Given the description of an element on the screen output the (x, y) to click on. 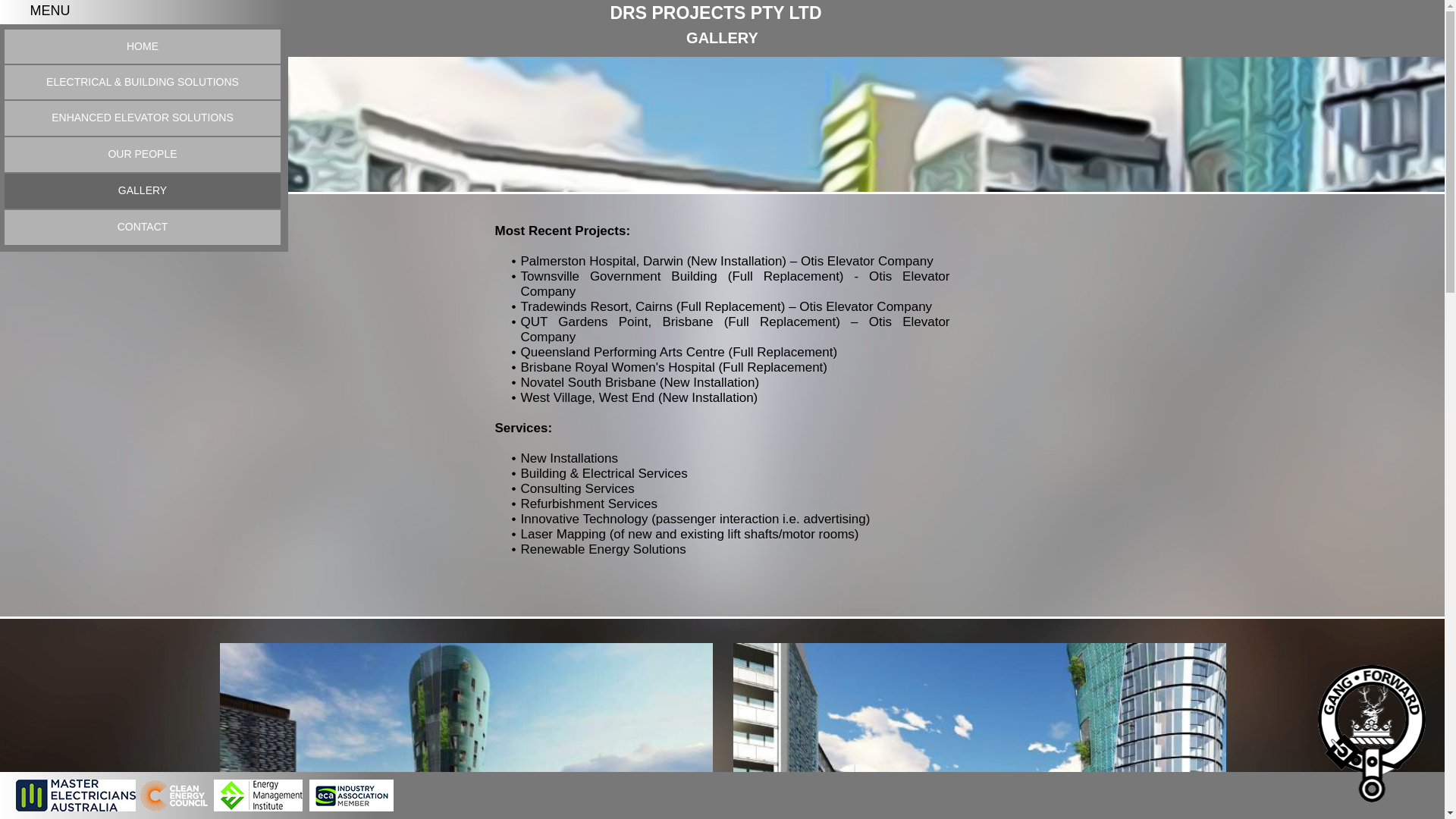
ELECTRICAL & BUILDING SOLUTIONS Element type: text (142, 82)
OUR PEOPLE Element type: text (142, 154)
CONTACT Element type: text (142, 227)
HOME Element type: text (142, 46)
ENHANCED ELEVATOR SOLUTIONS Element type: text (142, 117)
GALLERY Element type: text (142, 190)
